Given the description of an element on the screen output the (x, y) to click on. 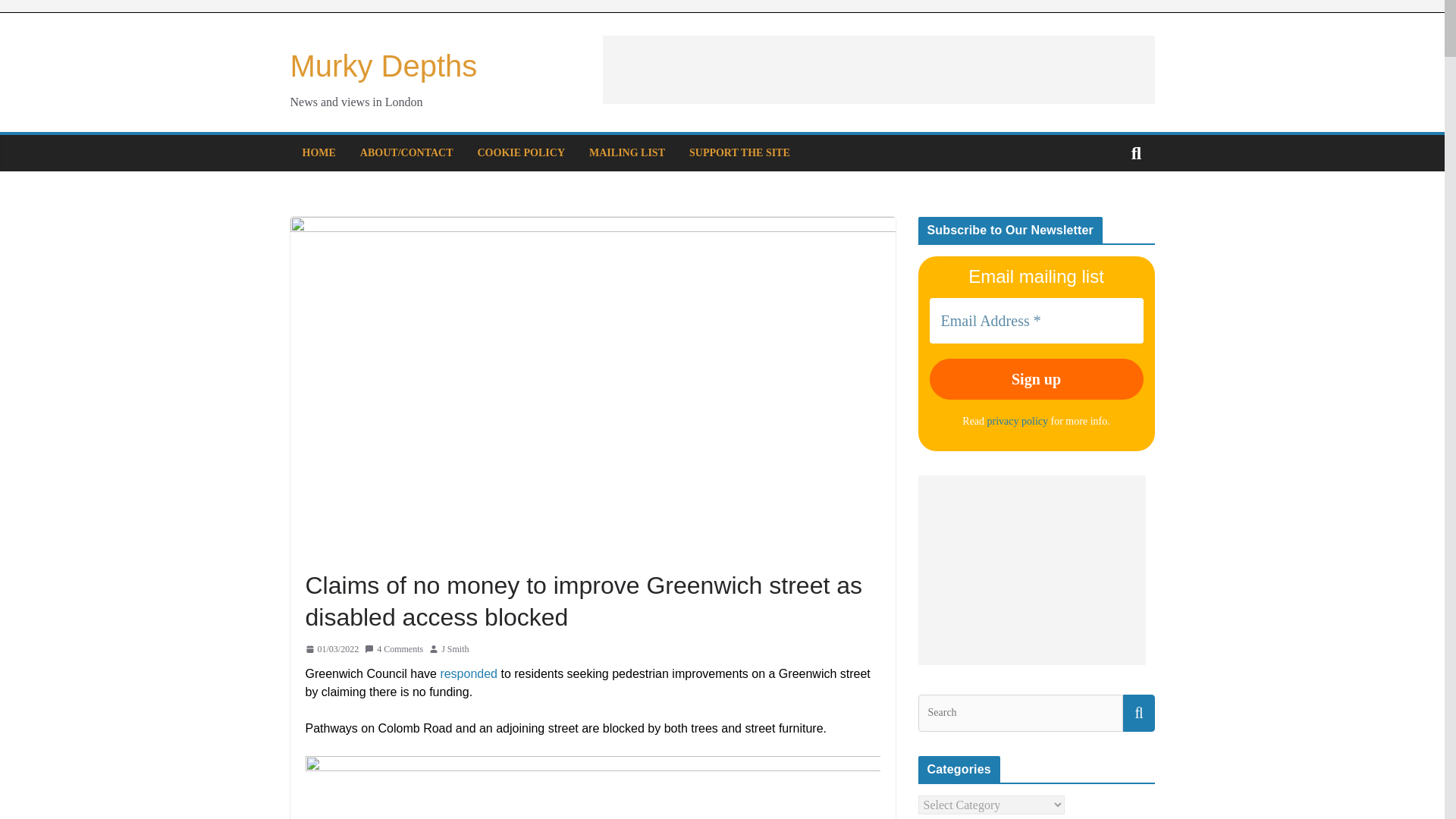
15:45 (331, 649)
J Smith (454, 649)
HOME (317, 152)
J Smith (454, 649)
SUPPORT THE SITE (739, 152)
MAILING LIST (627, 152)
Sign up (1036, 378)
4 Comments (394, 649)
Murky Depths (383, 65)
Murky Depths (383, 65)
COOKIE POLICY (521, 152)
responded (468, 673)
